Given the description of an element on the screen output the (x, y) to click on. 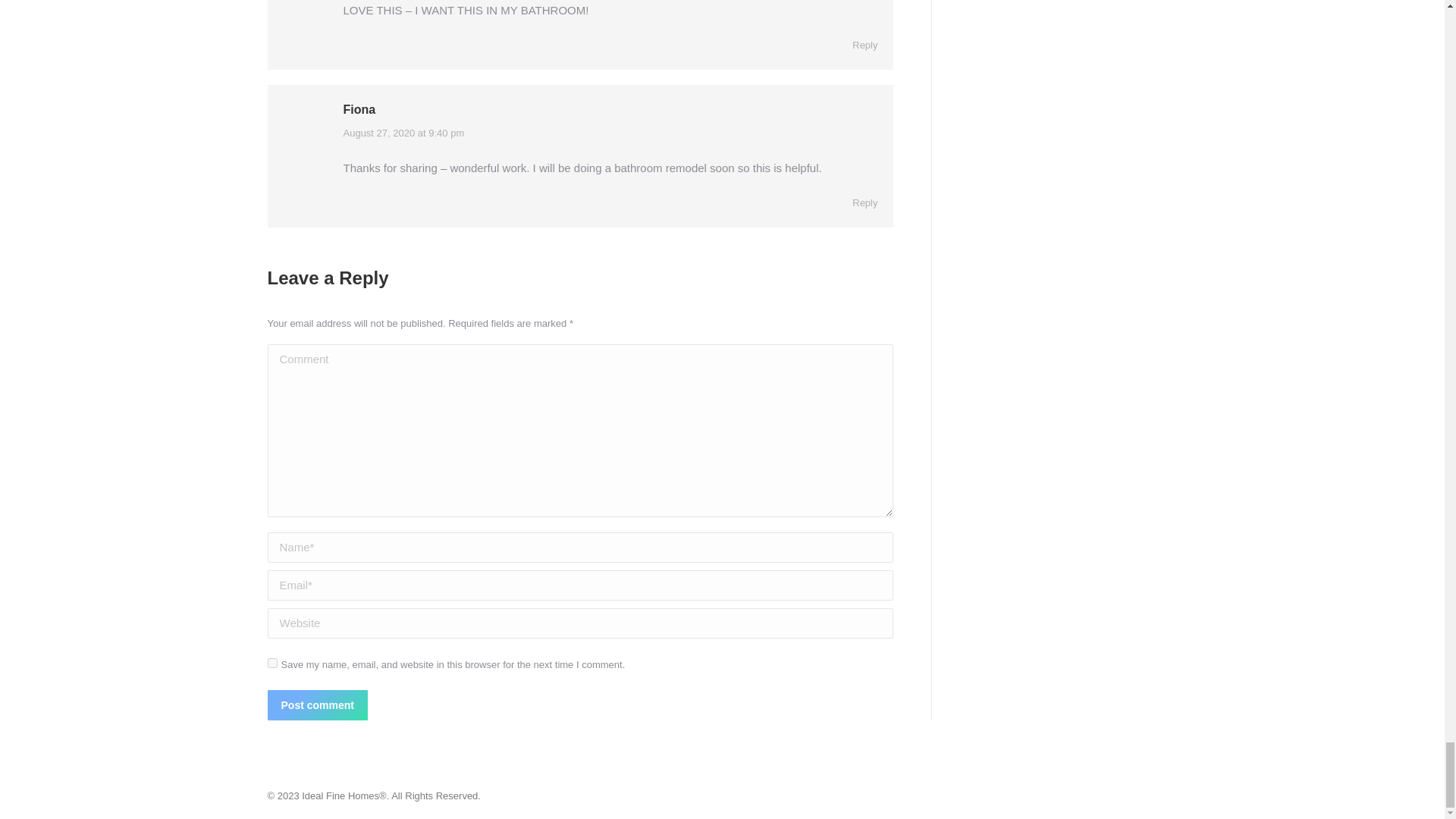
yes (271, 663)
